Given the description of an element on the screen output the (x, y) to click on. 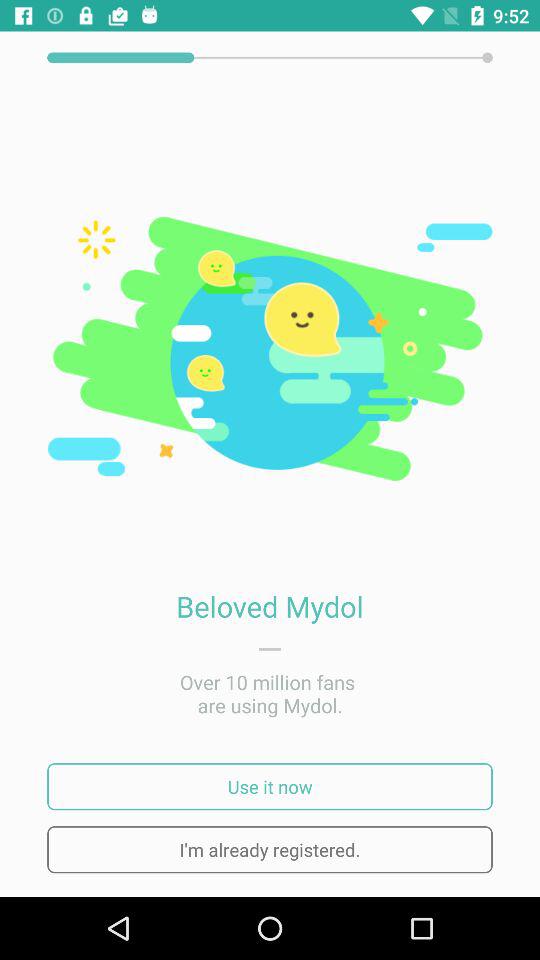
open item below over 10 million (269, 786)
